Given the description of an element on the screen output the (x, y) to click on. 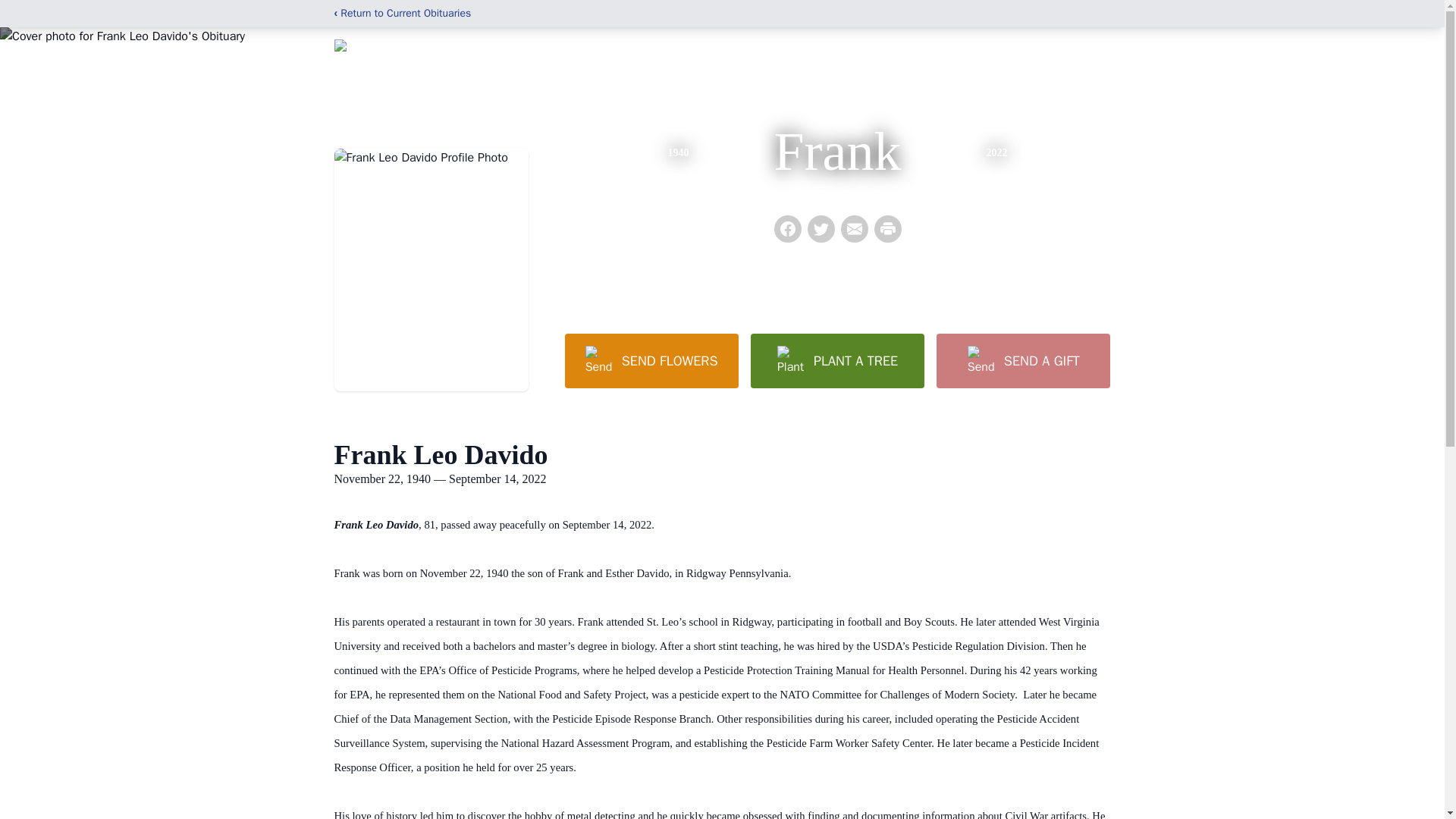
SEND A GIFT (1022, 360)
SEND FLOWERS (651, 360)
PLANT A TREE (837, 360)
